Given the description of an element on the screen output the (x, y) to click on. 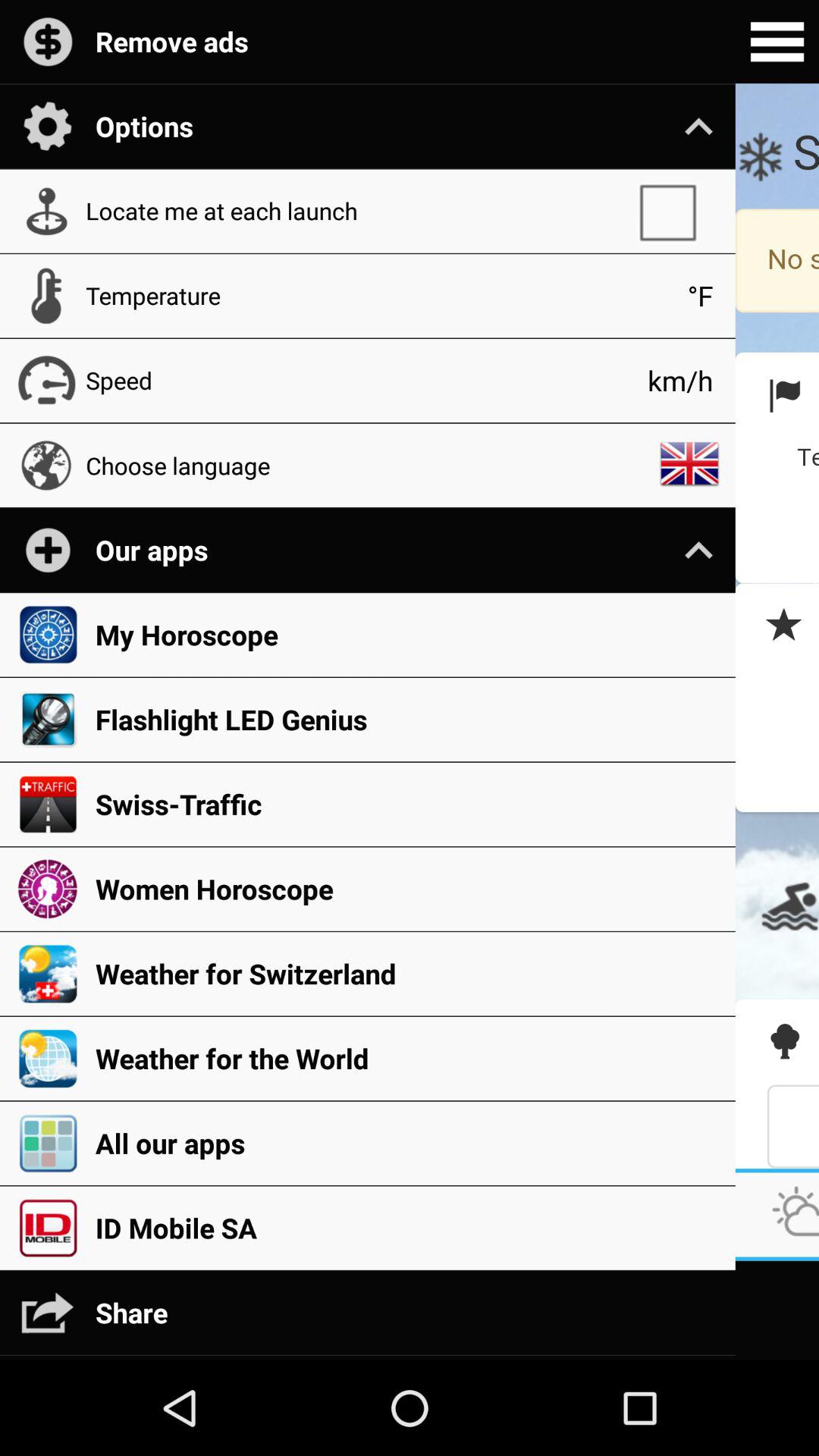
choose the icon above the our apps icon (689, 465)
